Given the description of an element on the screen output the (x, y) to click on. 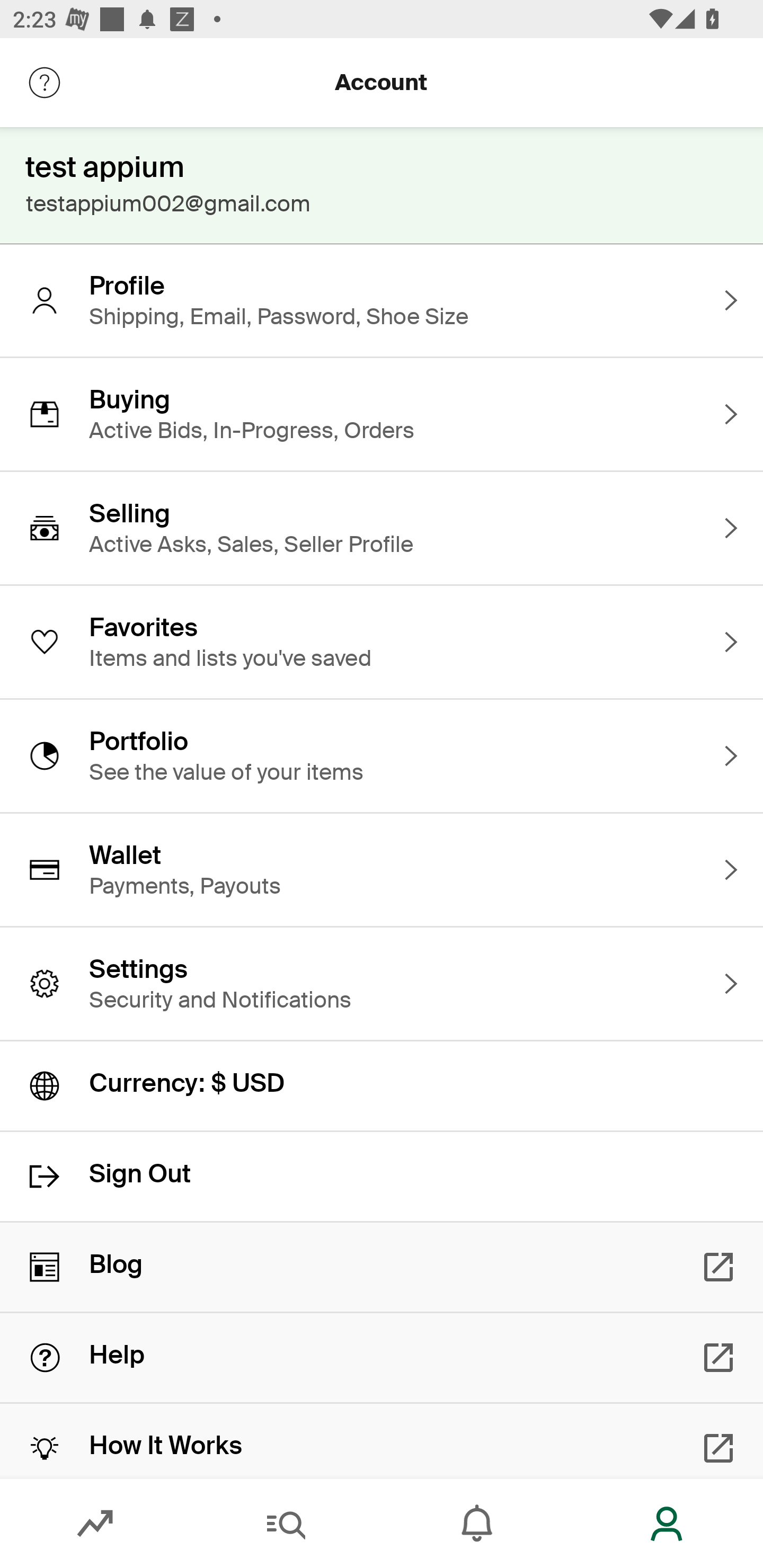
Profile Shipping, Email, Password, Shoe Size (381, 299)
Buying Active Bids, In-Progress, Orders (381, 413)
Selling Active Asks, Sales, Seller Profile (381, 527)
Favorites Items and lists you've saved (381, 641)
Portfolio See the value of your items (381, 755)
Wallet Payments, Payouts (381, 869)
Settings Security and Notifications (381, 983)
Currency: $ USD (381, 1085)
Sign Out (381, 1176)
Blog (381, 1266)
Help (381, 1357)
How It Works (381, 1440)
Market (95, 1523)
Search (285, 1523)
Inbox (476, 1523)
